Given the description of an element on the screen output the (x, y) to click on. 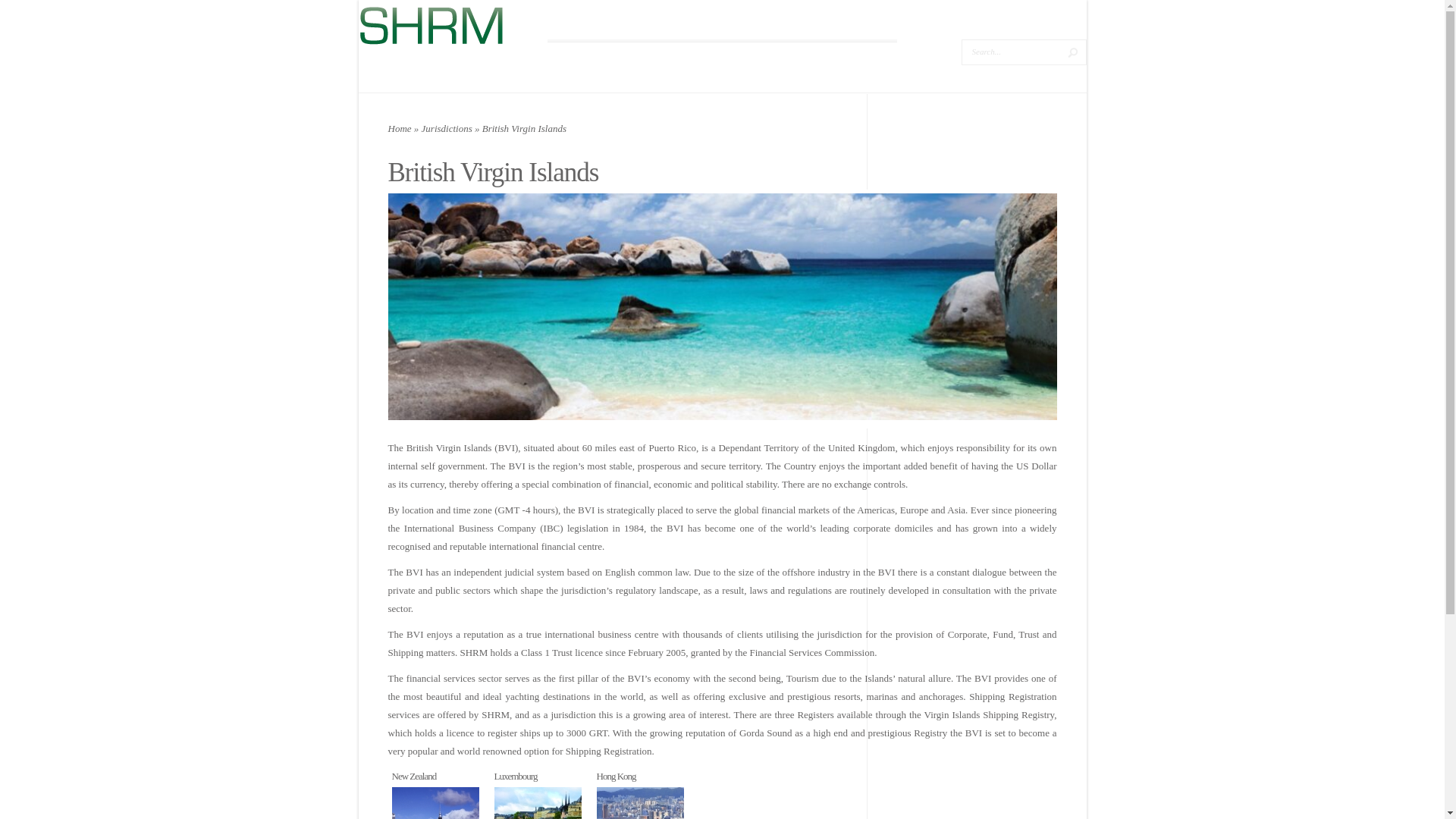
Search... (1012, 51)
Luxembourg (537, 803)
Hong Kong (638, 803)
Luxembourg (516, 776)
New Zealand (435, 803)
Jurisdictions (446, 128)
Hong Kong (614, 776)
Home (400, 128)
British Virgin Islands (435, 803)
Luxembourg (516, 776)
